Given the description of an element on the screen output the (x, y) to click on. 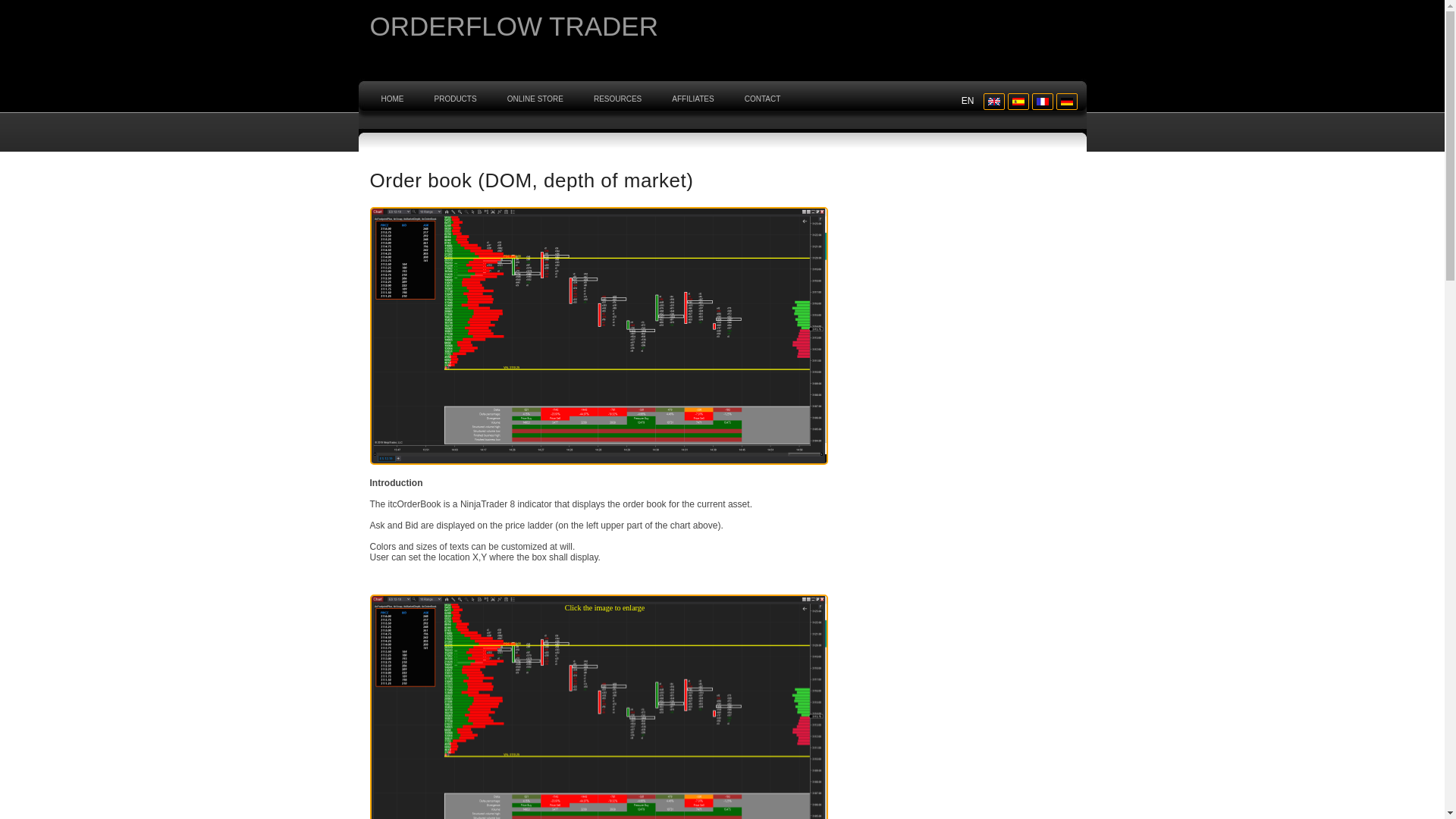
AFFILIATES (692, 99)
ONLINE STORE (535, 99)
PRODUCTS (455, 99)
HOME (392, 99)
RESOURCES (617, 99)
CONTACT (762, 99)
